Given the description of an element on the screen output the (x, y) to click on. 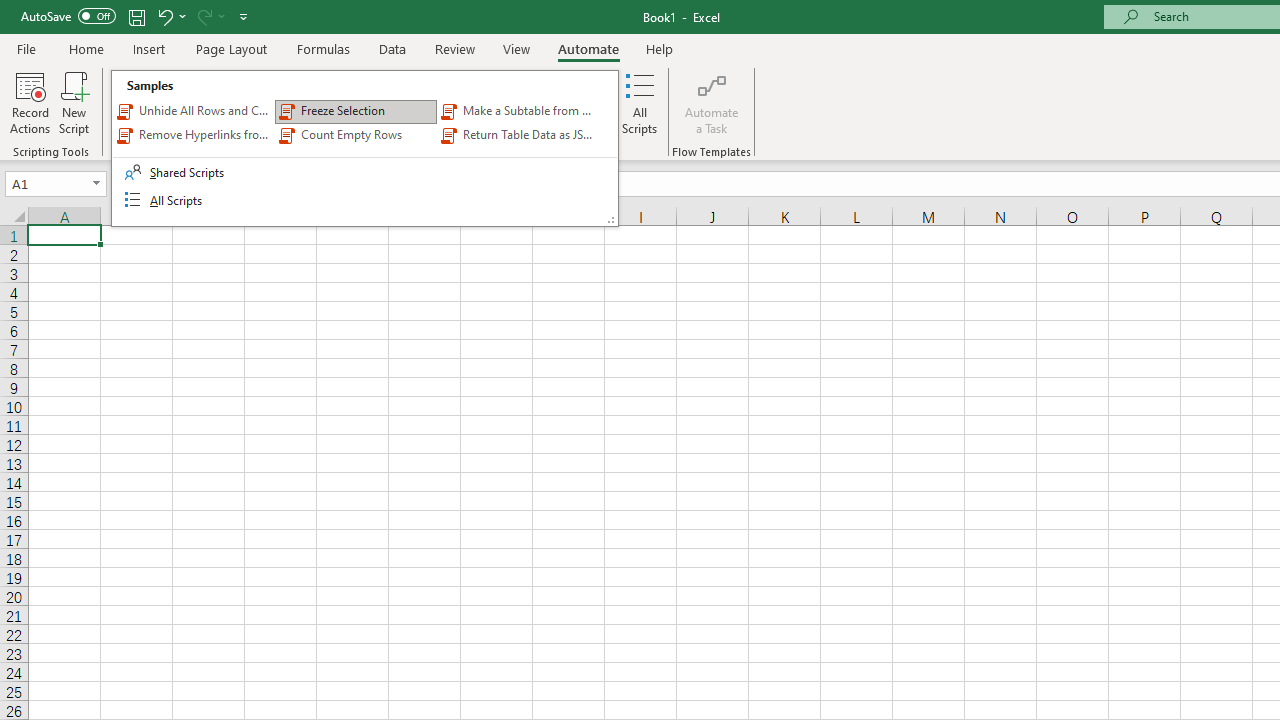
Undo (170, 15)
Save (136, 15)
Customize Quick Access Toolbar (244, 15)
Automate a Task (712, 102)
Formulas (323, 48)
System (10, 11)
New Script (73, 102)
System (10, 11)
File Tab (26, 48)
Redo (203, 15)
Insert (149, 48)
AutoSave (68, 16)
Data (392, 48)
Page Layout (230, 48)
Quick Access Toolbar (136, 16)
